Given the description of an element on the screen output the (x, y) to click on. 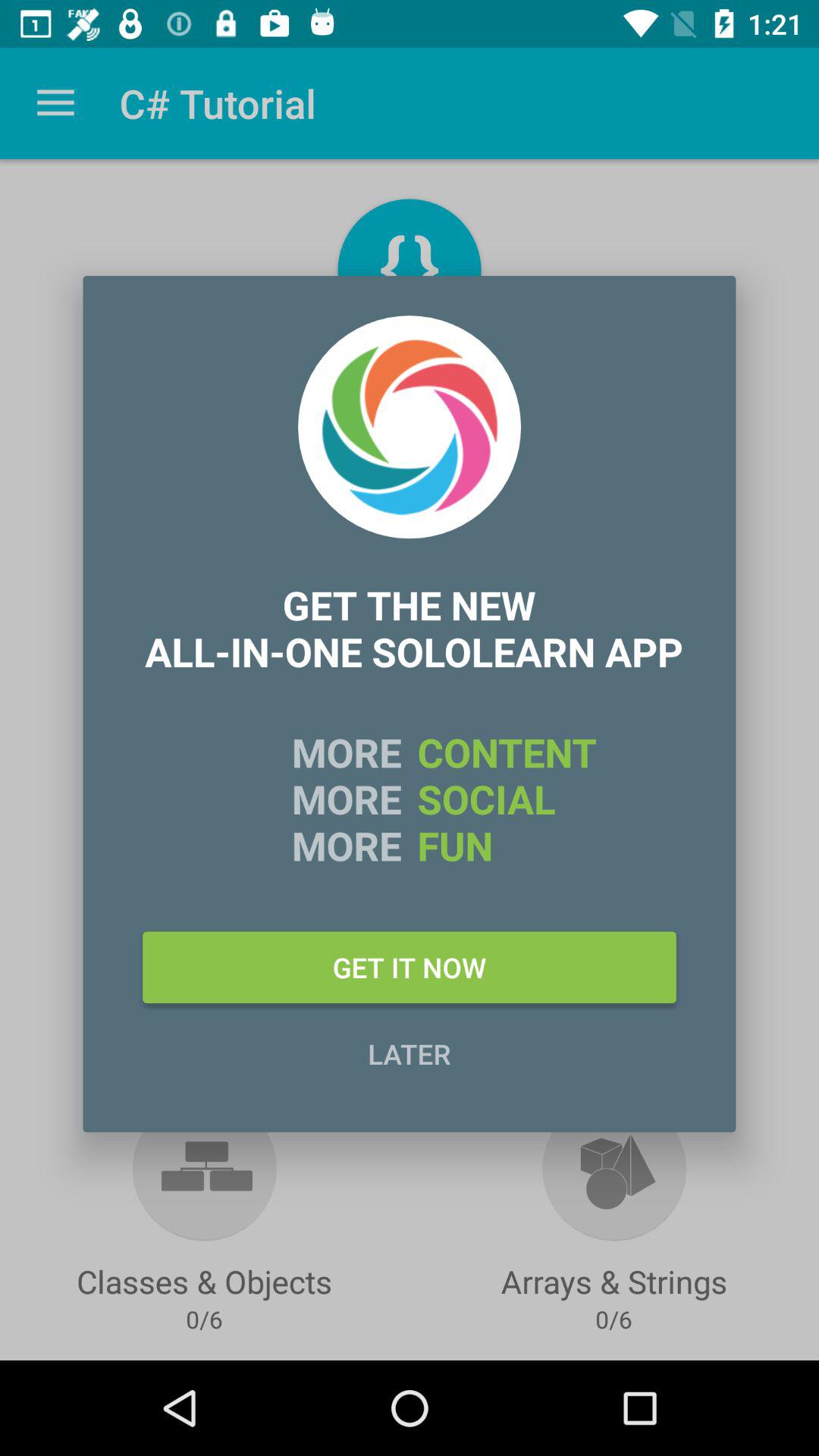
tap later at the bottom (409, 1053)
